Given the description of an element on the screen output the (x, y) to click on. 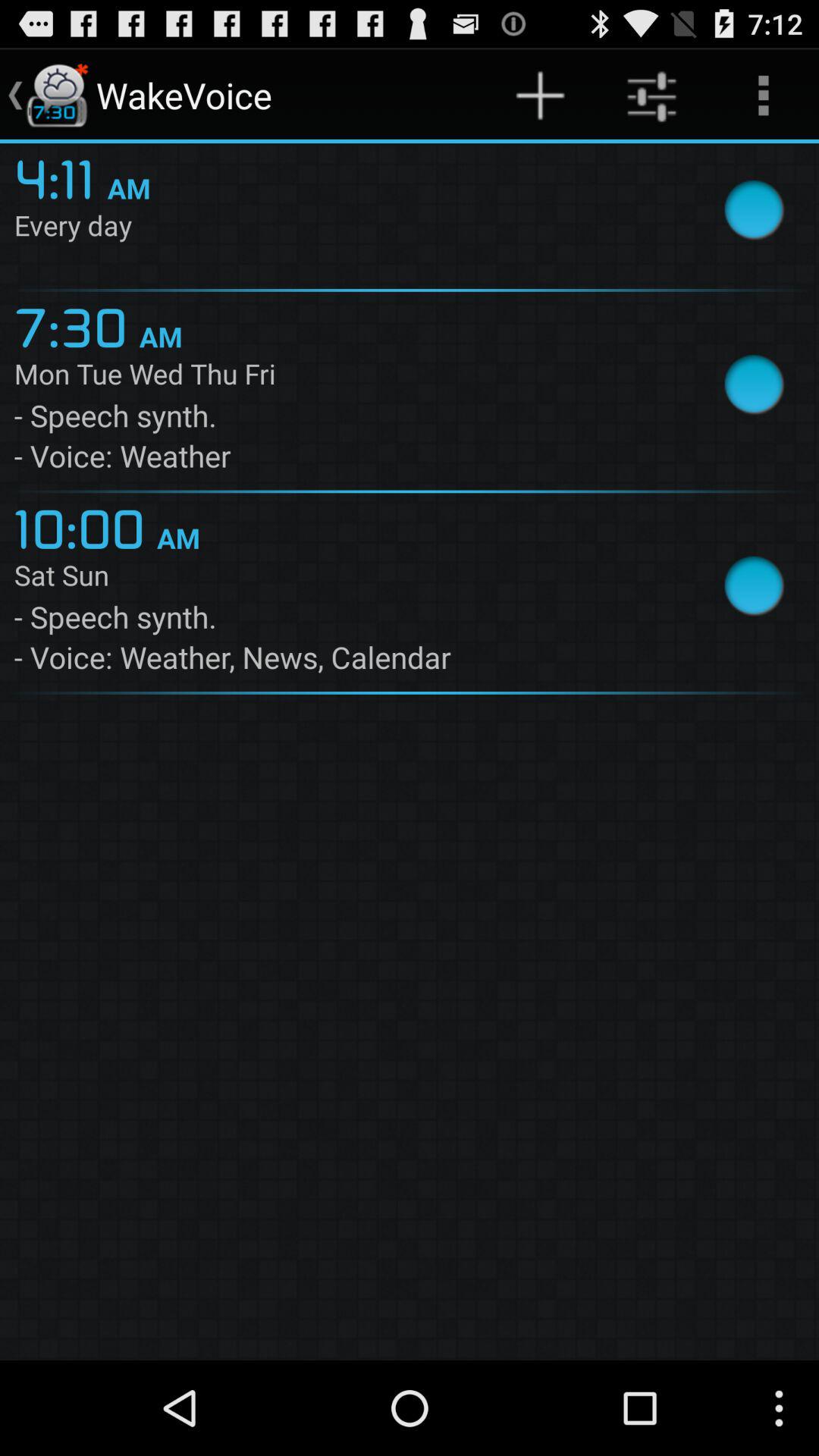
swipe to the mon tue wed item (343, 376)
